Given the description of an element on the screen output the (x, y) to click on. 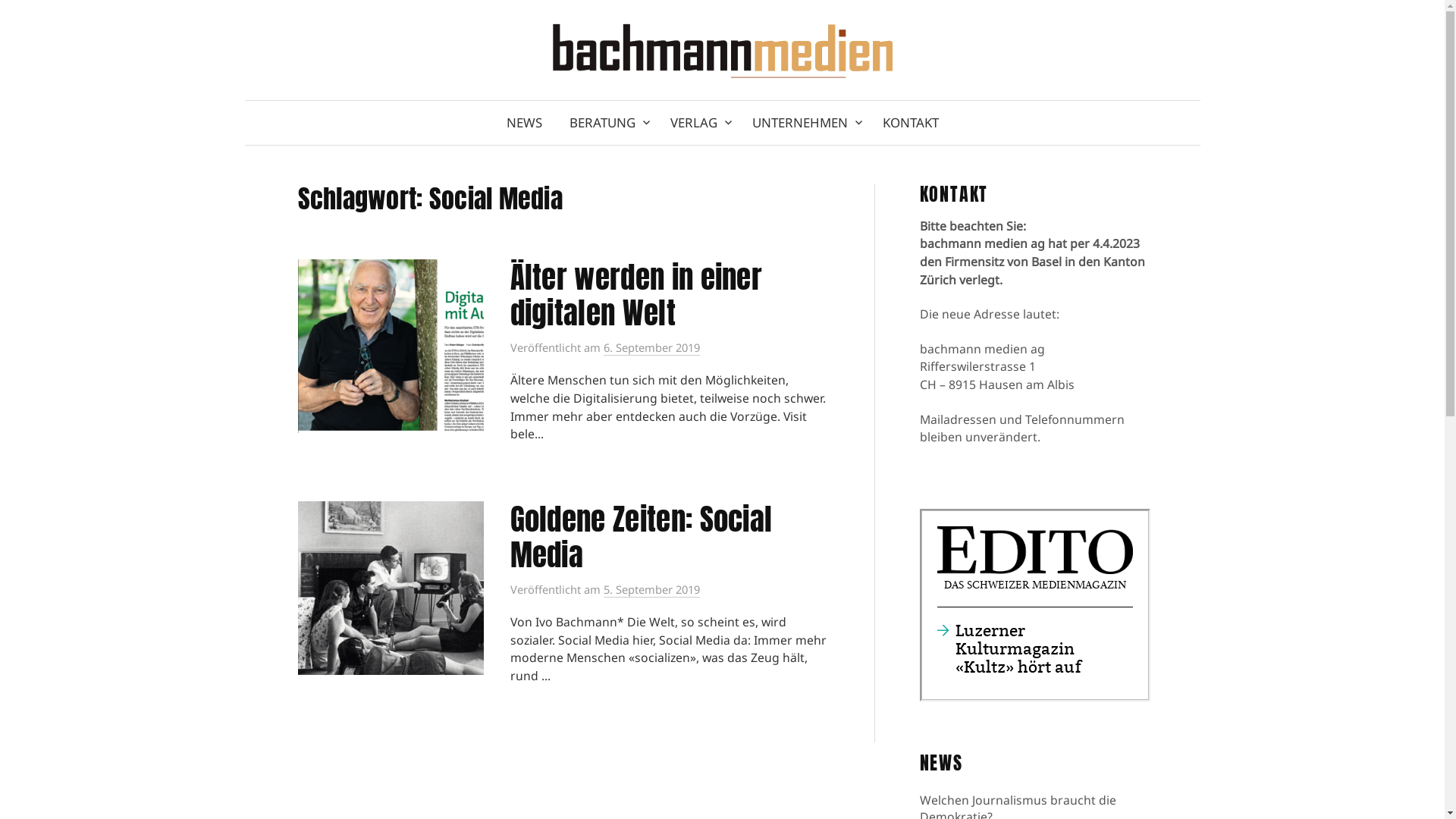
BERATUNG Element type: text (605, 122)
Suche Element type: text (36, 17)
VERLAG Element type: text (697, 122)
5. September 2019 Element type: text (651, 589)
NEWS Element type: text (523, 122)
Goldene Zeiten: Social Media Element type: text (640, 536)
6. September 2019 Element type: text (651, 347)
KONTAKT Element type: text (910, 122)
UNTERNEHMEN Element type: text (803, 122)
